Given the description of an element on the screen output the (x, y) to click on. 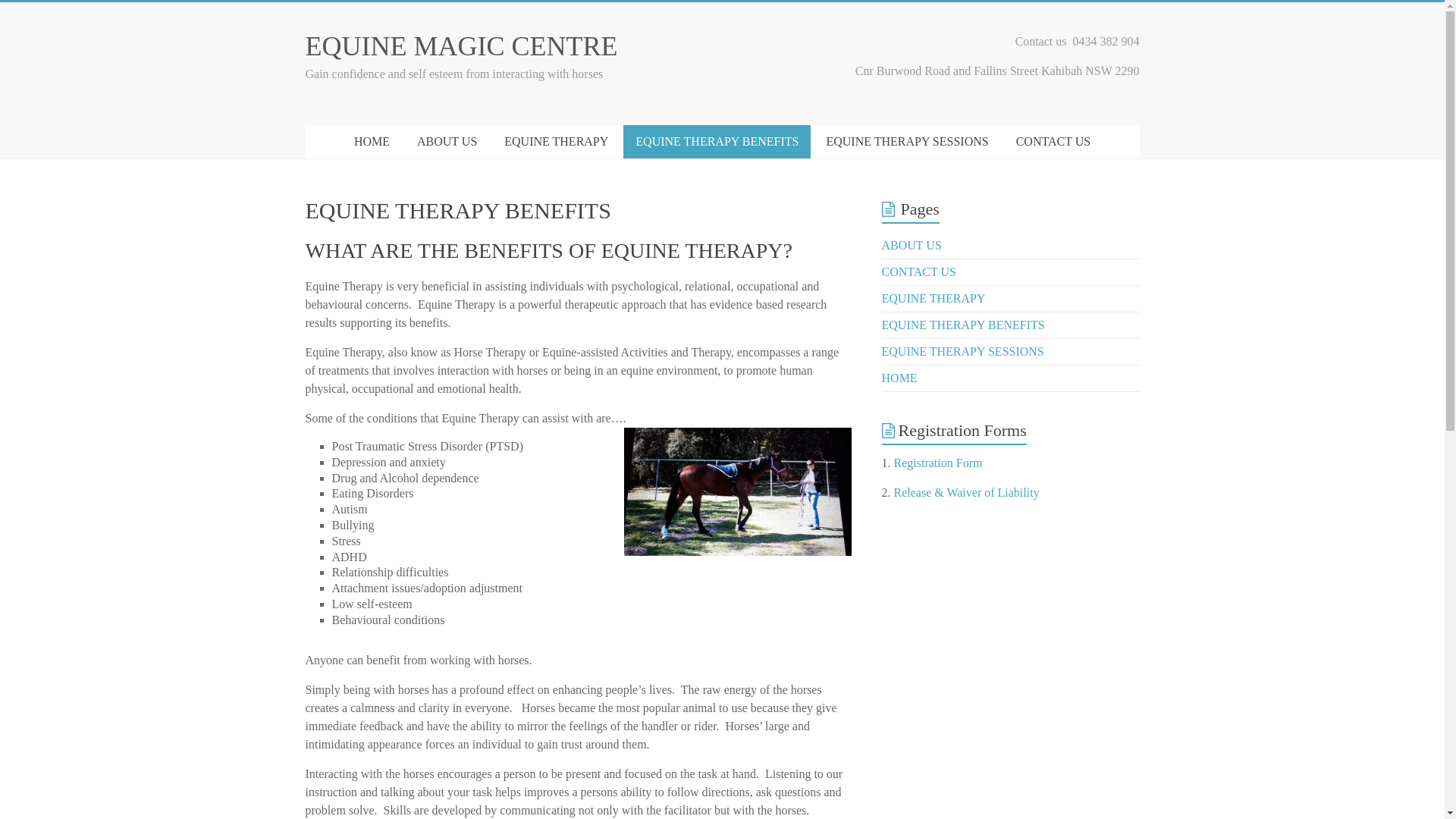
ABOUT US Element type: text (911, 244)
CONTACT US Element type: text (1053, 141)
EQUINE THERAPY Element type: text (933, 297)
EQUINE THERAPY Element type: text (556, 141)
Release & Waiver of Liability Element type: text (966, 492)
Registration Form Element type: text (938, 462)
HOME Element type: text (899, 377)
EQUINE THERAPY BENEFITS Element type: text (962, 324)
EQUINE THERAPY SESSIONS Element type: text (906, 141)
EQUINE THERAPY BENEFITS Element type: text (716, 141)
CONTACT US Element type: text (918, 271)
EQUINE MAGIC CENTRE Element type: text (460, 46)
ABOUT US Element type: text (446, 141)
EQUINE THERAPY SESSIONS Element type: text (962, 351)
HOME Element type: text (371, 141)
